Given the description of an element on the screen output the (x, y) to click on. 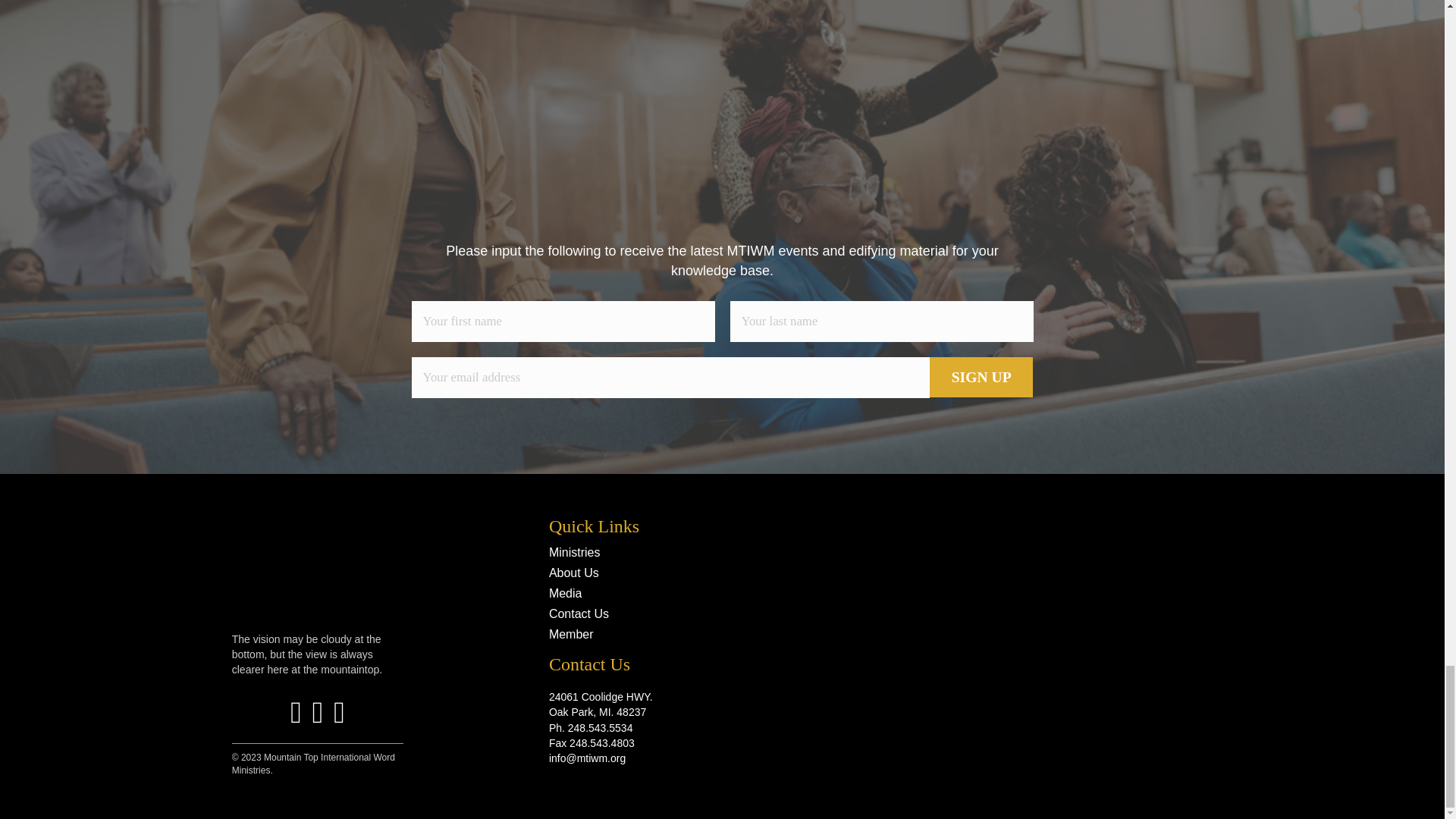
About Us (664, 569)
Sign up (981, 377)
Ministries (664, 548)
Sign up (981, 377)
